Given the description of an element on the screen output the (x, y) to click on. 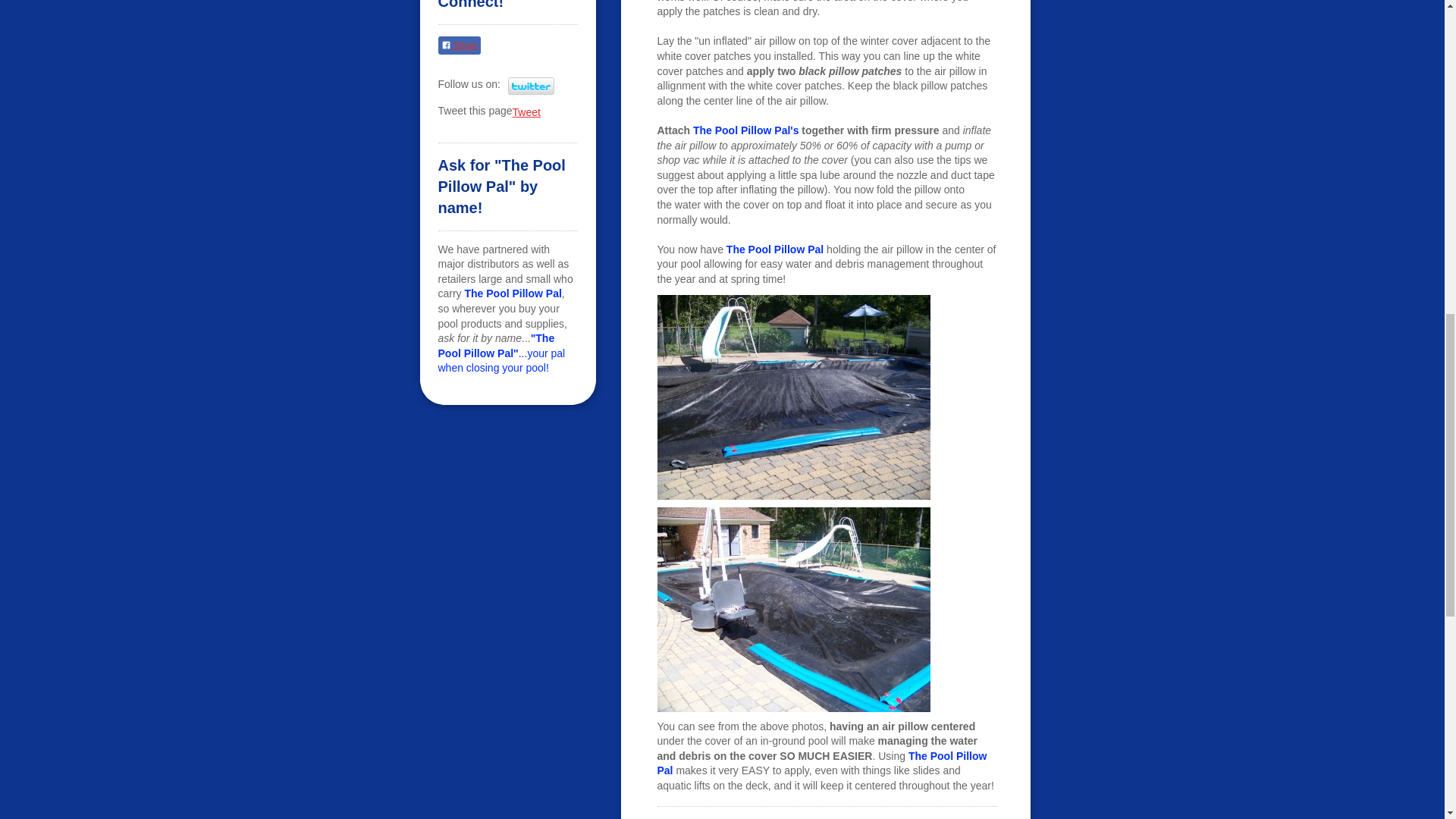
Share (459, 45)
Tweet (526, 111)
